Given the description of an element on the screen output the (x, y) to click on. 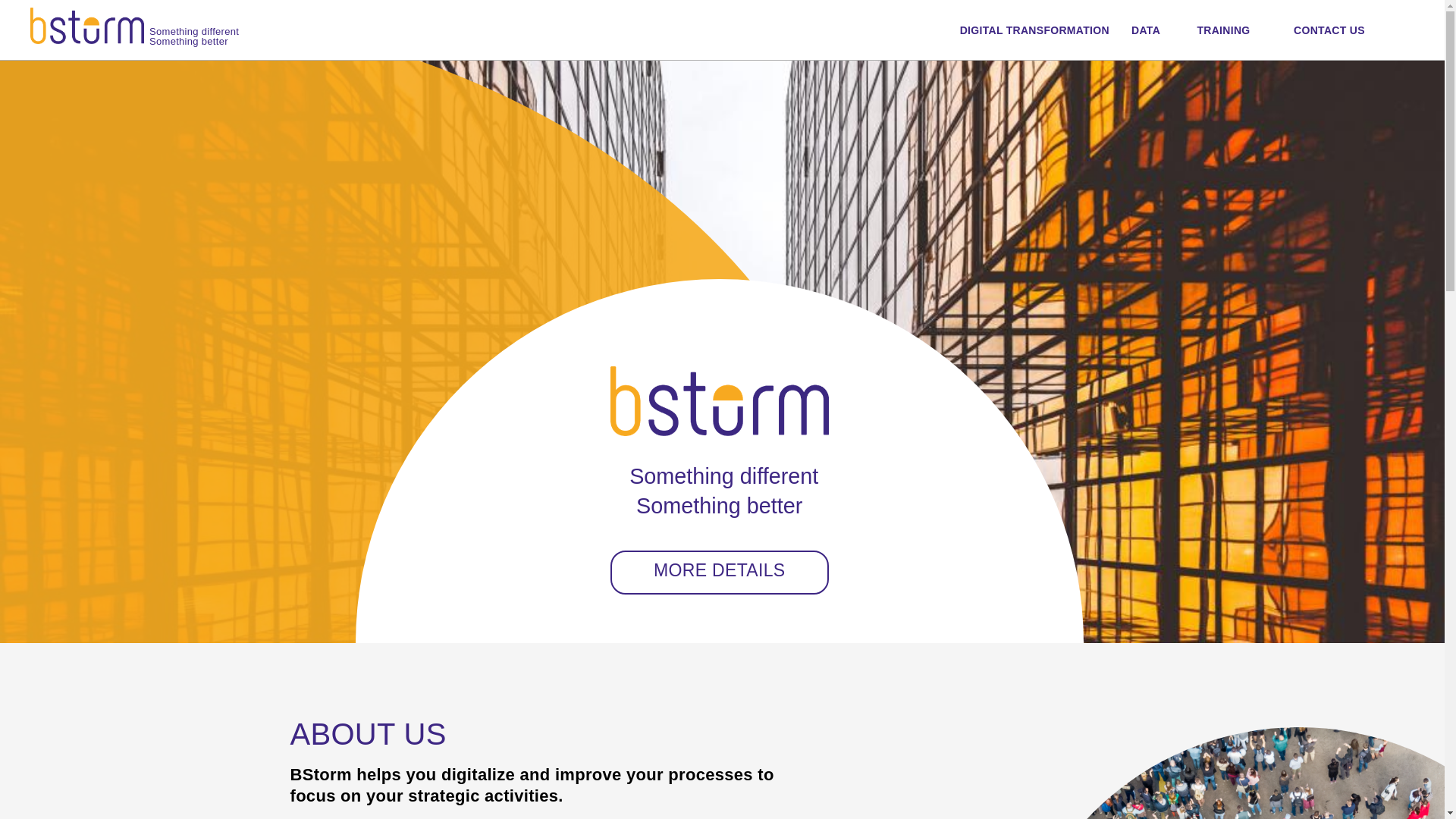
DATA Element type: text (1145, 30)
MORE DETAILS Element type: text (719, 572)
DIGITAL TRANSFORMATION Element type: text (1026, 30)
Something different
Something better Element type: text (134, 25)
TRAINING Element type: text (1215, 30)
CONTACT US Element type: text (1321, 30)
